Given the description of an element on the screen output the (x, y) to click on. 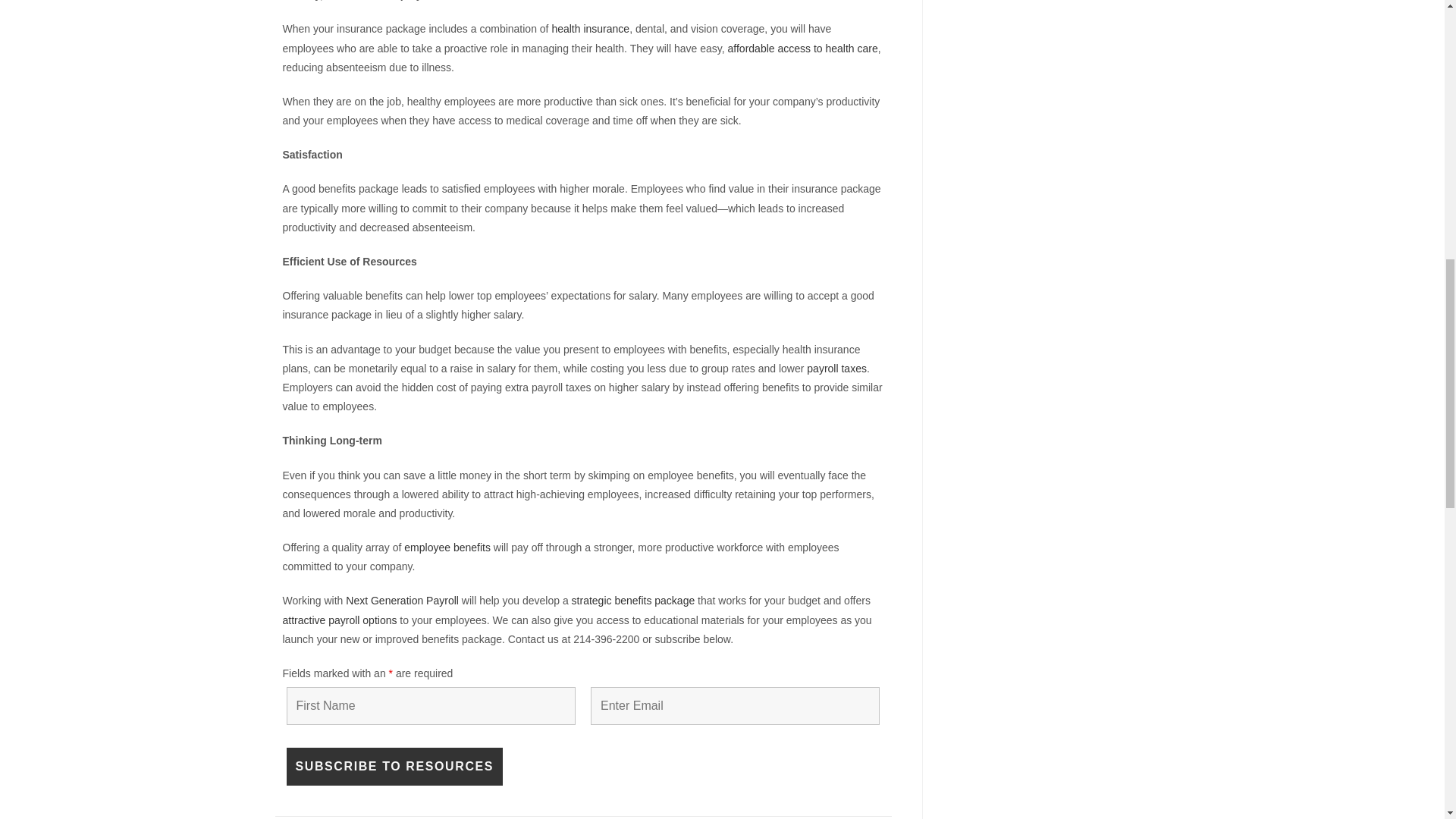
Subscribe To Resources (394, 766)
